Given the description of an element on the screen output the (x, y) to click on. 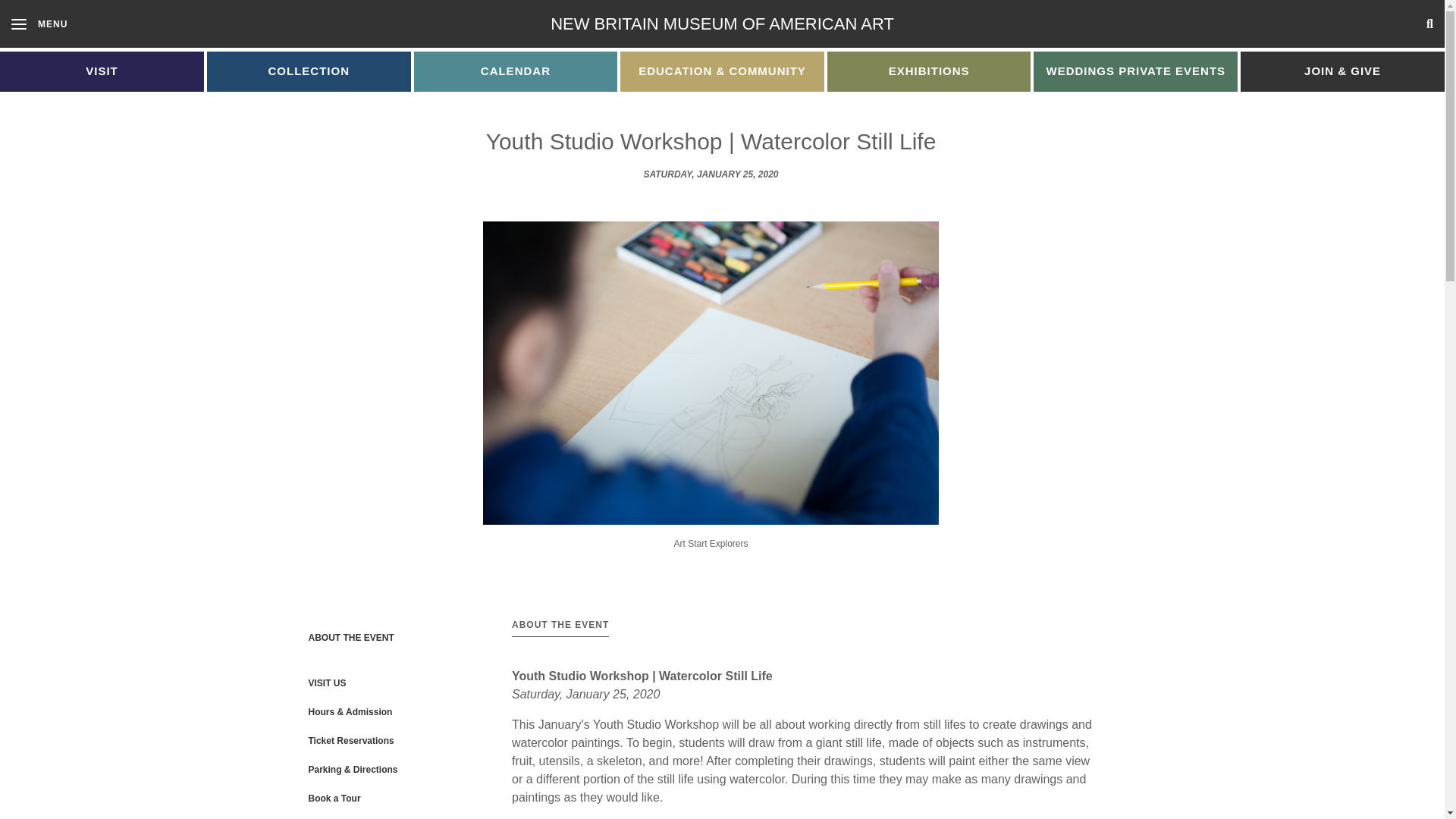
Search: (1290, 24)
COLLECTION (308, 71)
MENU (38, 23)
VISIT (101, 71)
